Given the description of an element on the screen output the (x, y) to click on. 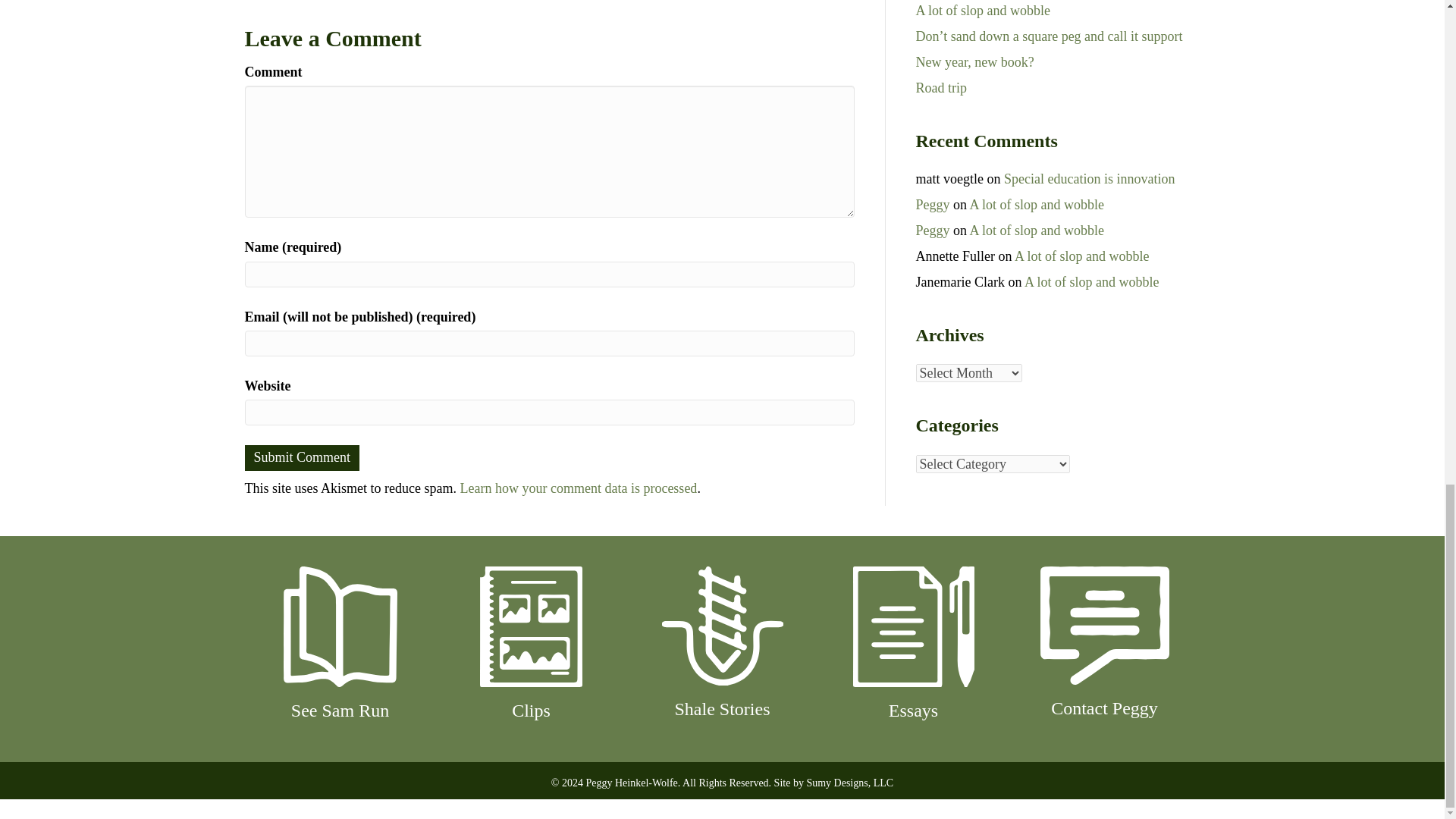
Submit Comment (301, 457)
Submit Comment (301, 457)
Learn how your comment data is processed (578, 488)
